Given the description of an element on the screen output the (x, y) to click on. 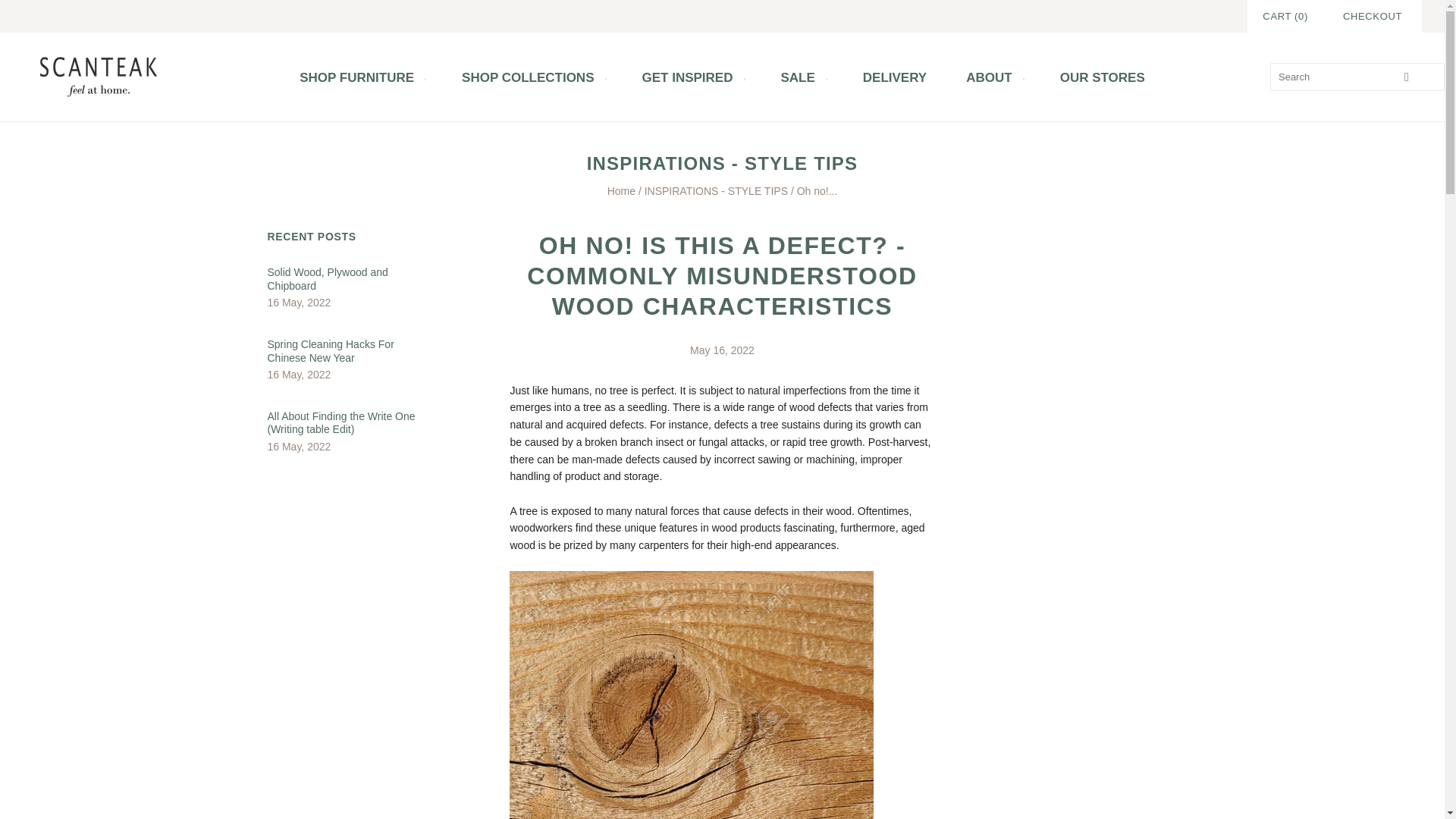
OUR STORES (1102, 77)
CHECKOUT (1372, 16)
DELIVERY (894, 77)
